Given the description of an element on the screen output the (x, y) to click on. 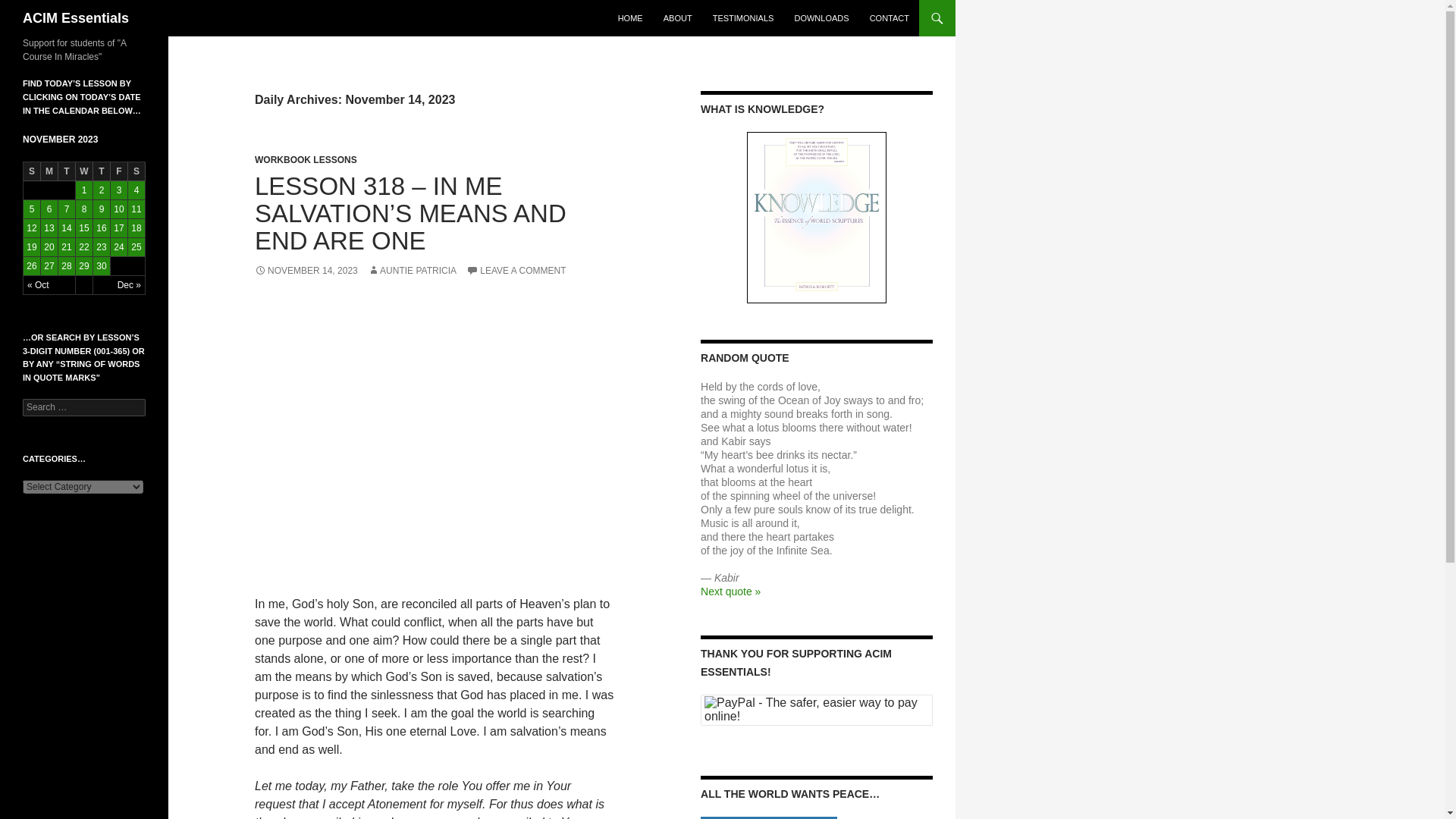
Knowledge: The Essence of World Scriptures (816, 217)
16 (101, 228)
14 (66, 228)
Tuesday (66, 171)
ACIM Lesson 318 - In me salvations means and end are one (434, 436)
ABOUT (677, 18)
Knowledge at amazon.com (816, 217)
Thursday (101, 171)
12 (31, 228)
7 (66, 208)
8 (84, 208)
9 (101, 208)
Friday (119, 171)
